Given the description of an element on the screen output the (x, y) to click on. 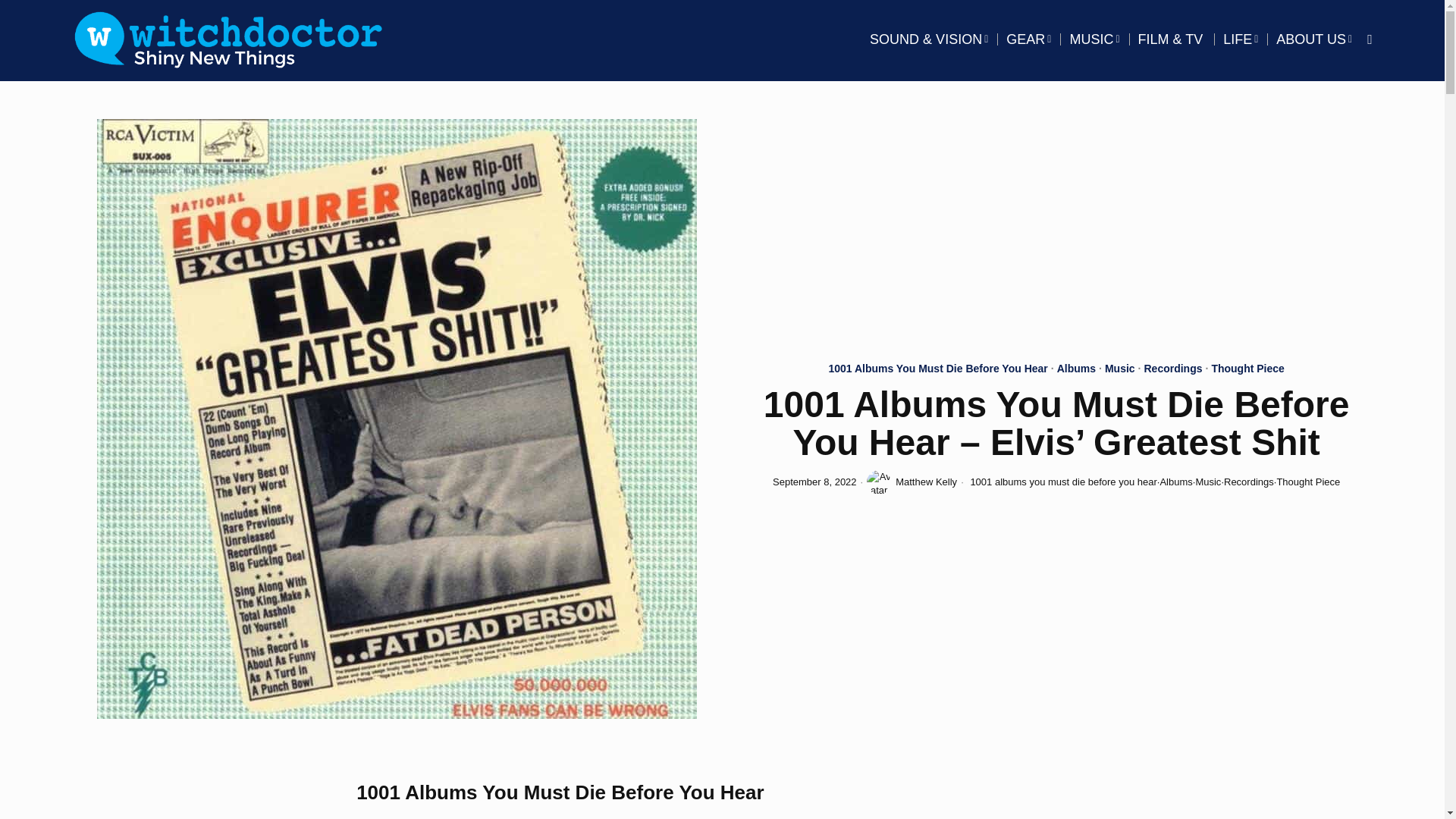
Recordings (1172, 369)
MUSIC (1093, 39)
LIFE (1240, 39)
Music (1120, 369)
GEAR (1028, 39)
Matthew Kelly (911, 482)
08 Sep, 2022 17:56:56 (815, 481)
Albums (1076, 369)
Thought Piece (1247, 369)
ABOUT US (1313, 39)
